Given the description of an element on the screen output the (x, y) to click on. 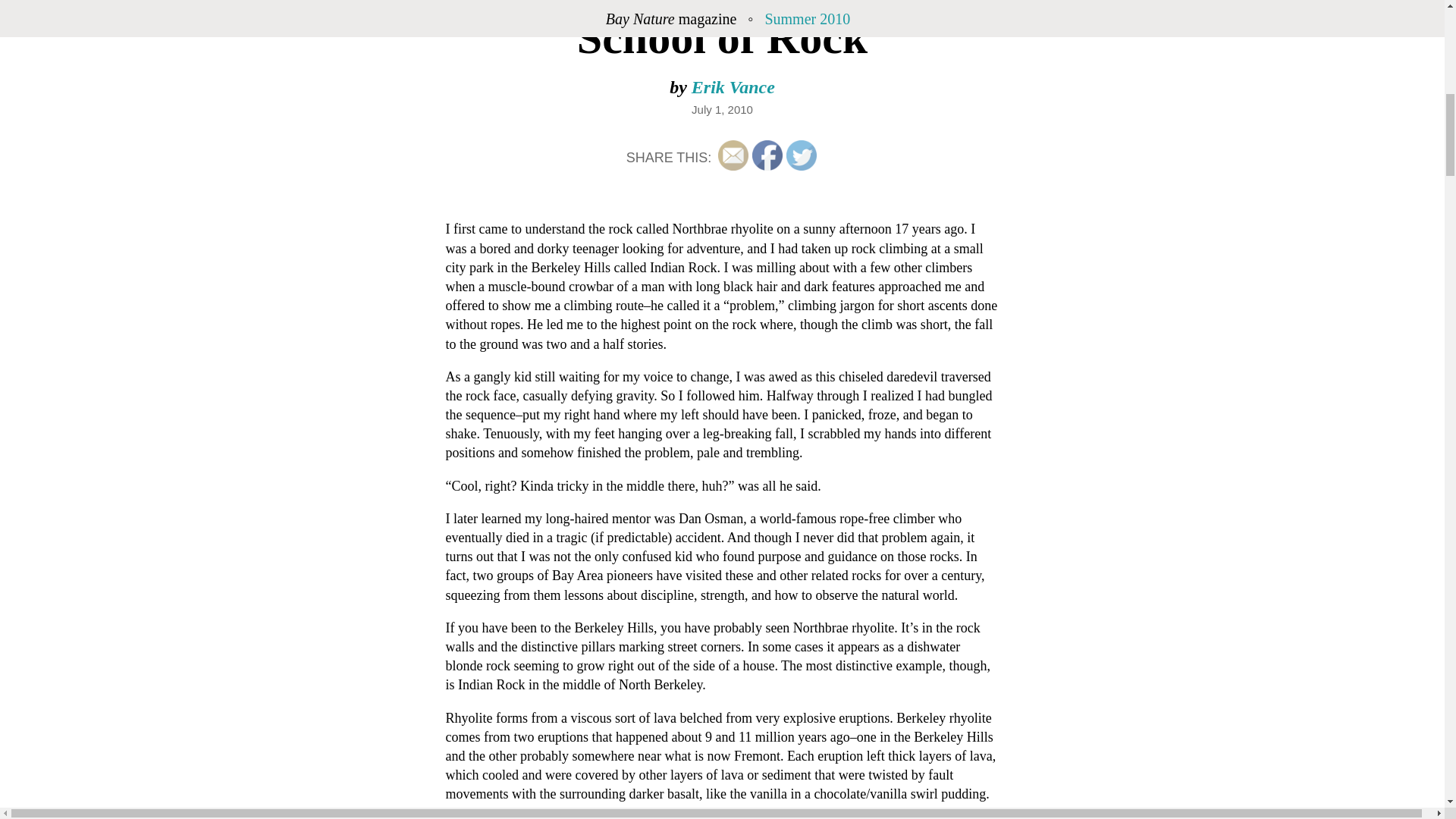
Facebook (767, 155)
Twitter (801, 155)
Posts by Erik Vance (732, 86)
Erik Vance (732, 86)
Follow by Email (732, 155)
